Given the description of an element on the screen output the (x, y) to click on. 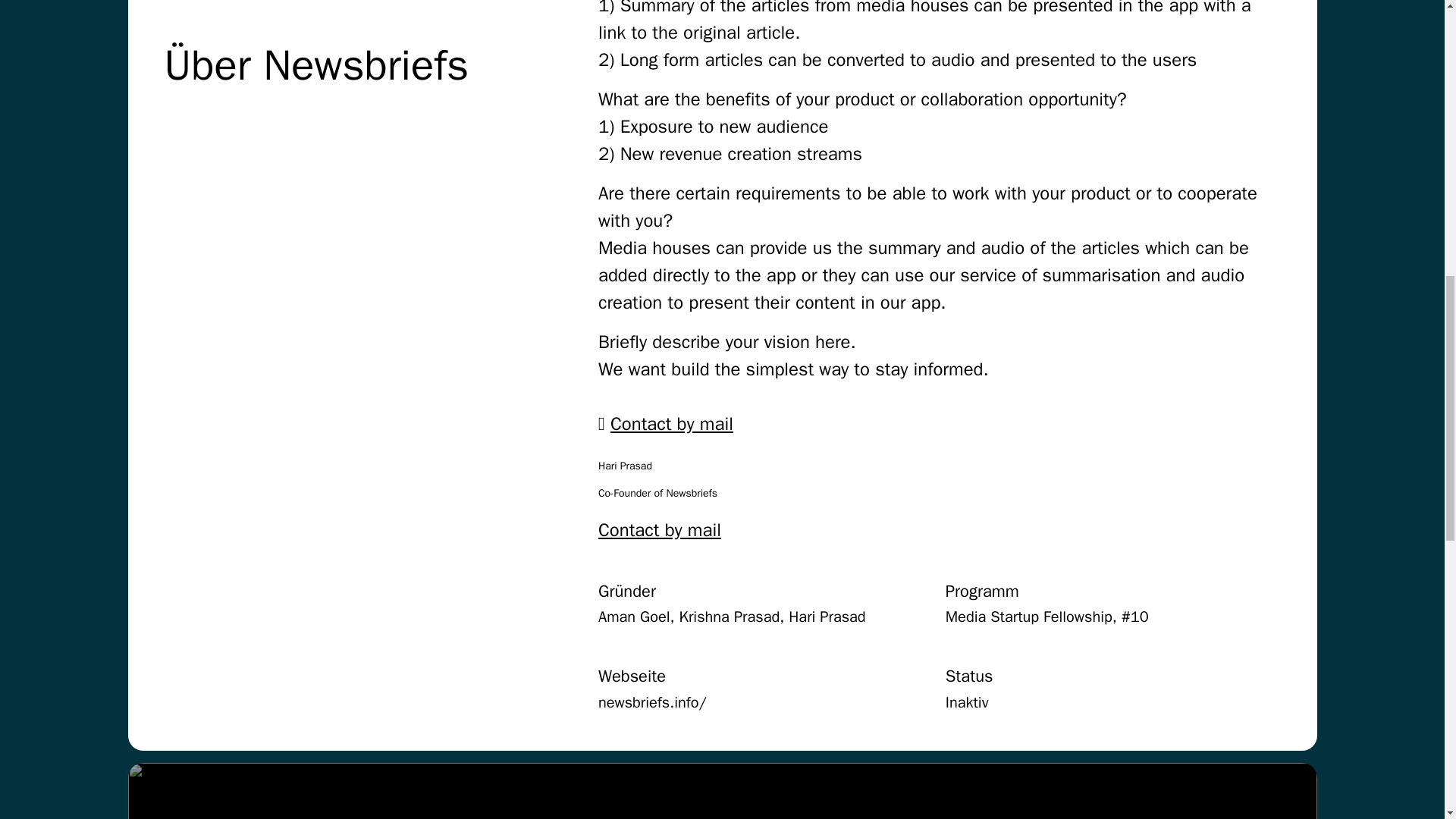
Contact by mail (671, 423)
Newsbriefs besuchen (722, 790)
Contact by mail (659, 529)
